Given the description of an element on the screen output the (x, y) to click on. 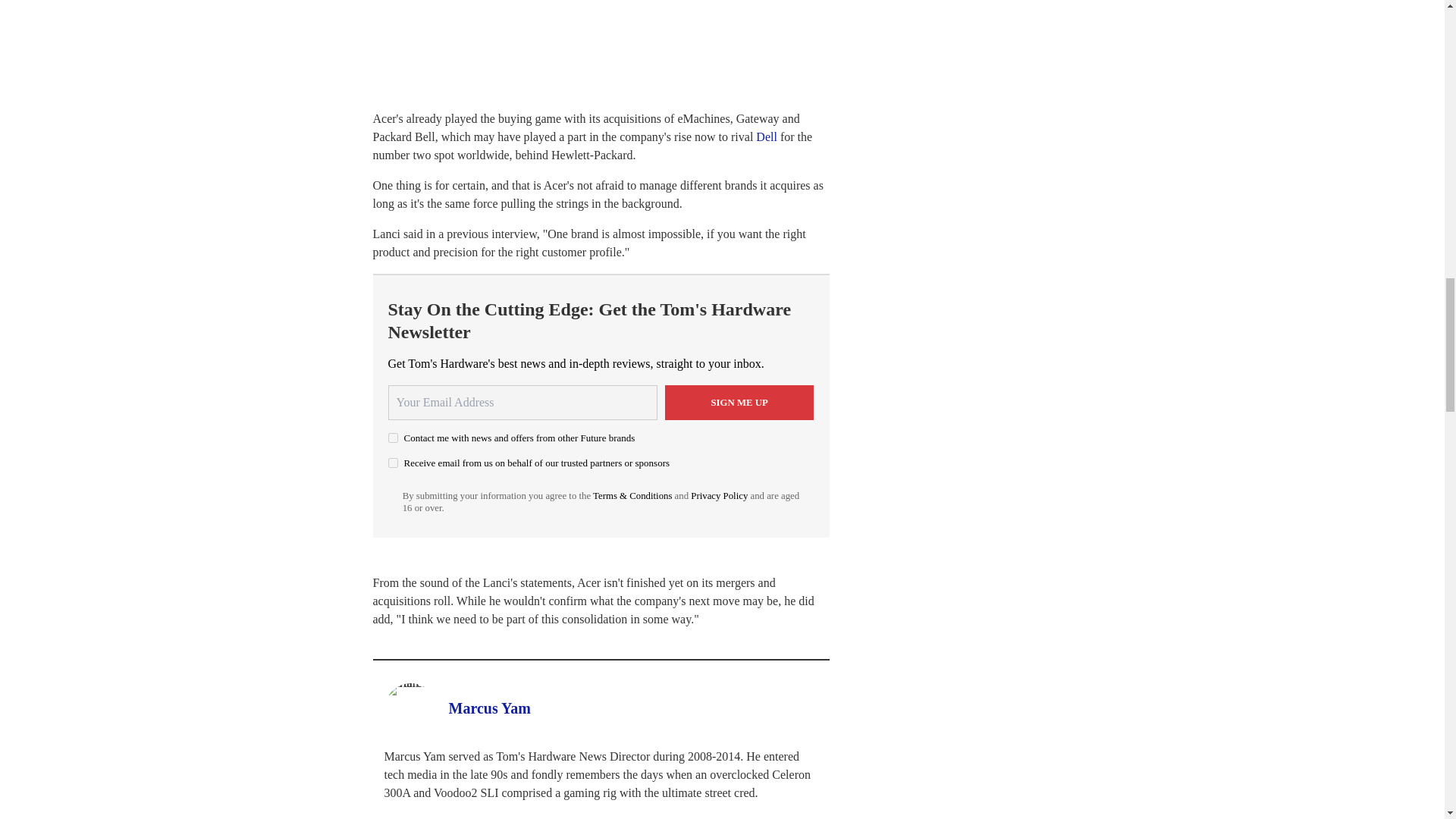
on (392, 438)
Sign me up (739, 402)
on (392, 462)
